Given the description of an element on the screen output the (x, y) to click on. 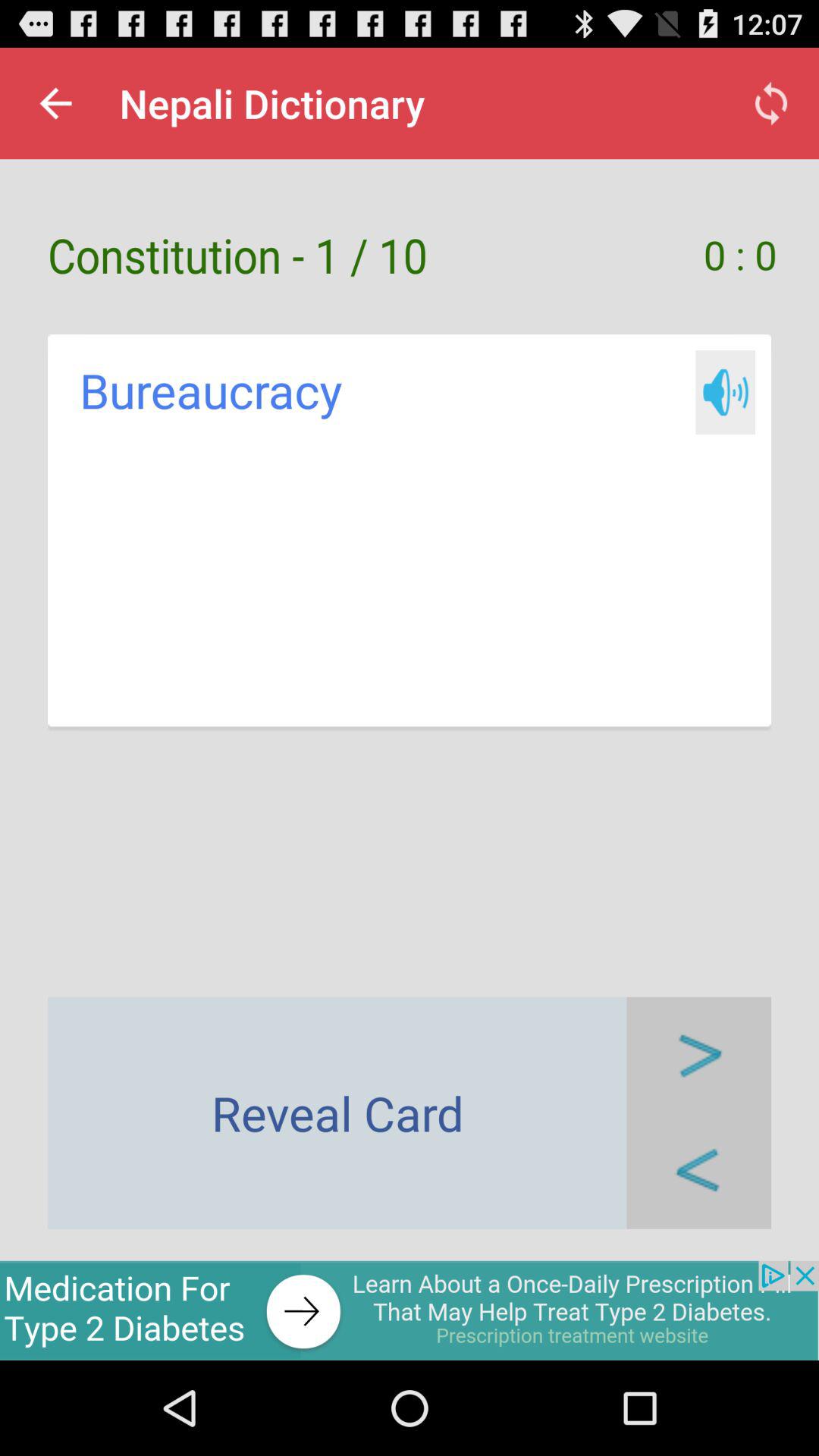
next (698, 1055)
